Given the description of an element on the screen output the (x, y) to click on. 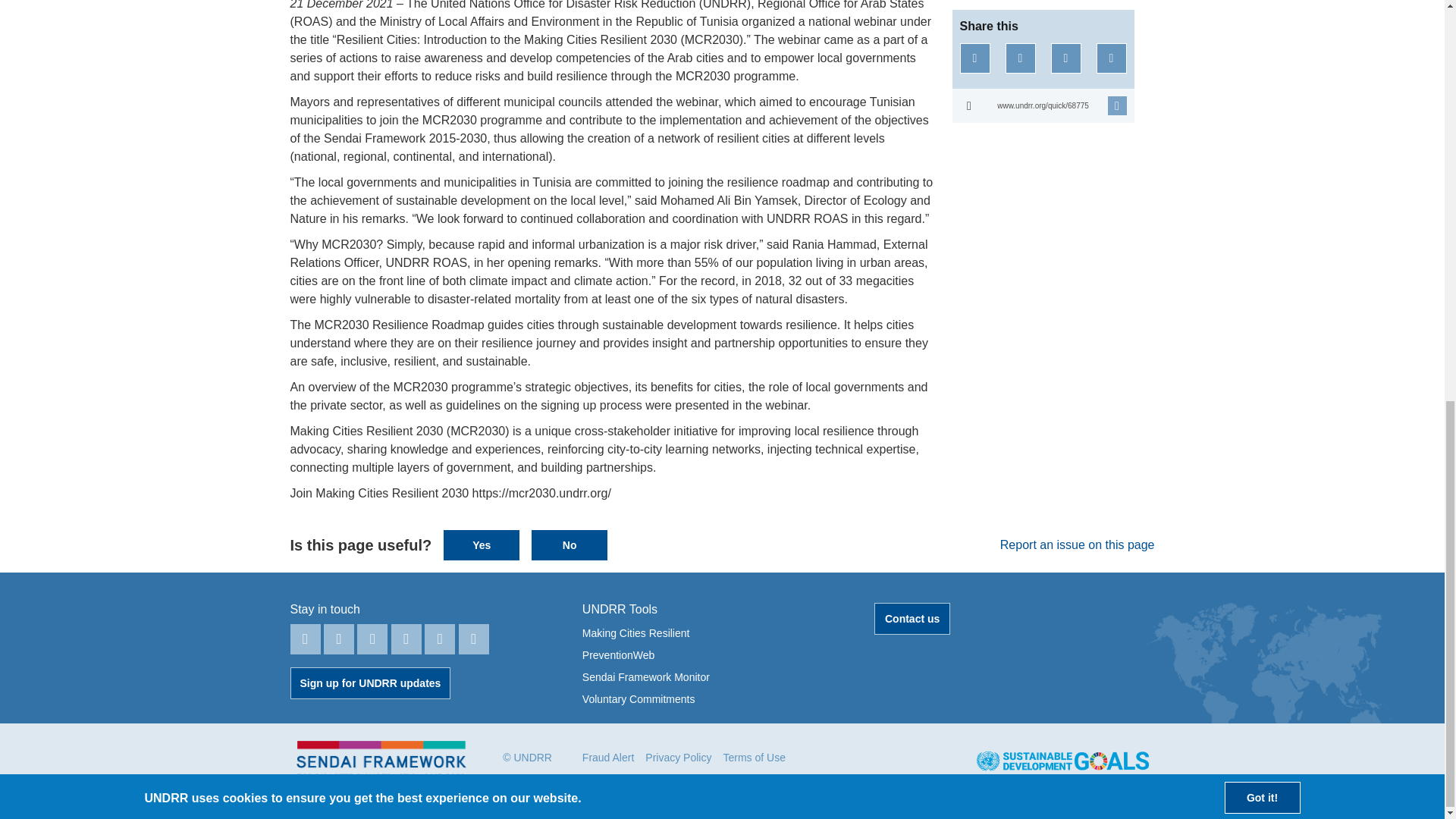
Share on Facebook (974, 58)
Share via Email (1111, 58)
Share on LinkedIn (1066, 58)
Share on Twitter (1020, 58)
Copy to Clipboard (1043, 105)
